Given the description of an element on the screen output the (x, y) to click on. 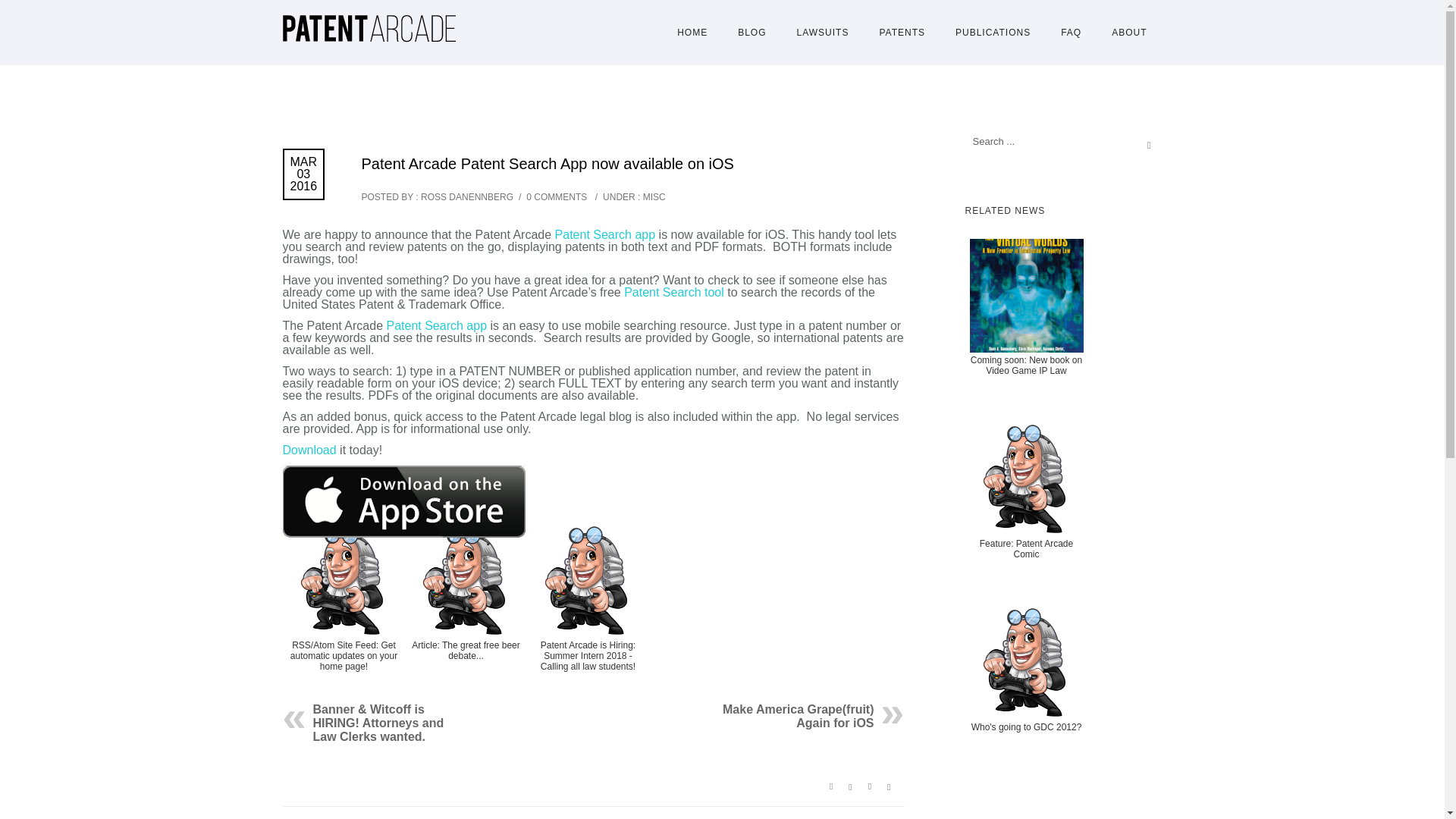
FAQ (1070, 32)
ABOUT (1128, 32)
ROSS DANENNBERG (466, 196)
PUBLICATIONS (992, 32)
Home (692, 32)
Publications (992, 32)
BLOG (751, 32)
LAWSUITS (822, 32)
FAQ (1070, 32)
Patent Search tool (675, 291)
Patent Search app (605, 234)
Lawsuits (822, 32)
MISC (652, 196)
Patent Arcade Patent Search App now available on iOS (547, 163)
Download (310, 449)
